Given the description of an element on the screen output the (x, y) to click on. 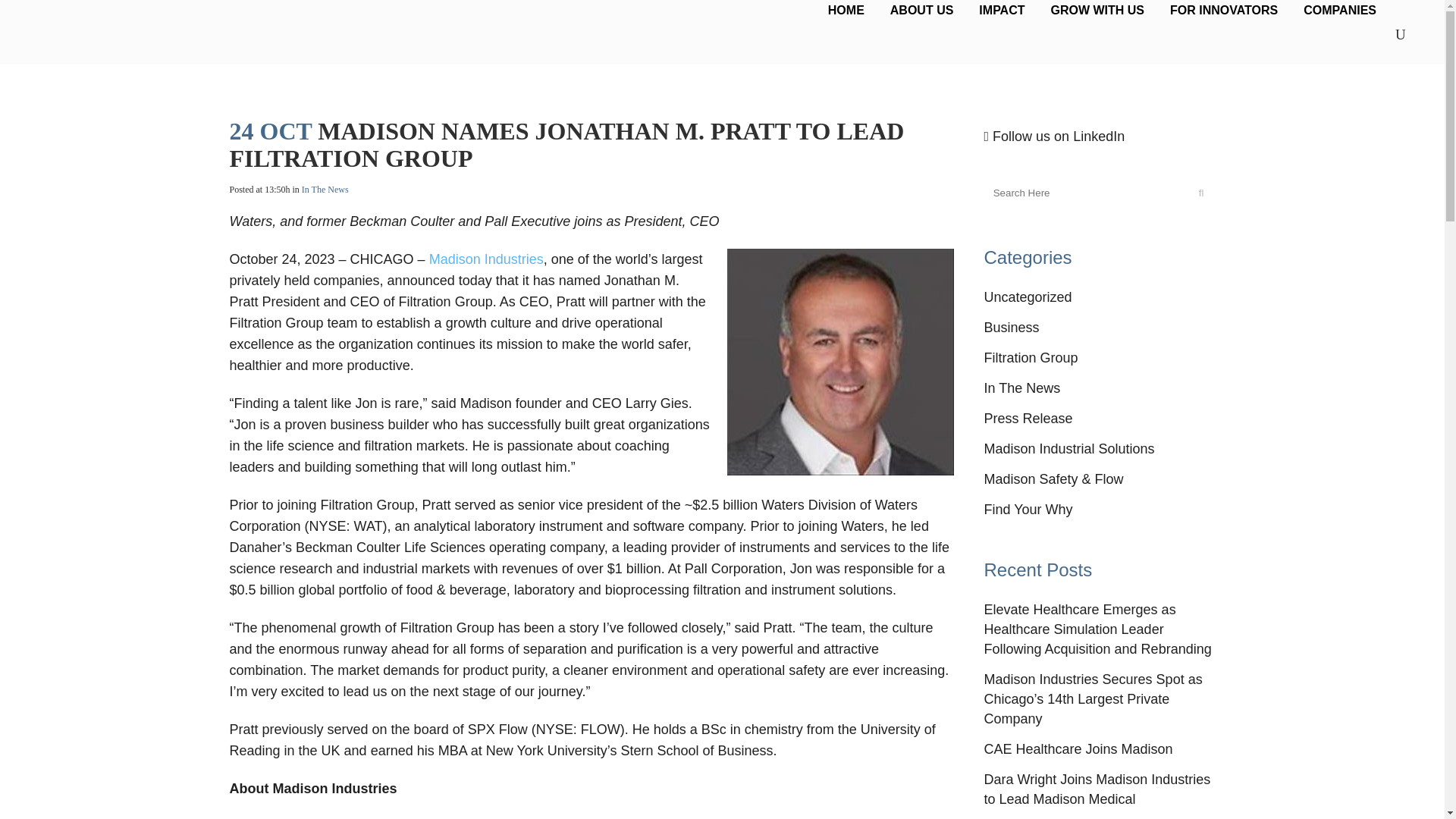
FOR INNOVATORS (1223, 10)
IMPACT (1001, 10)
Madison Industries (486, 258)
Uncategorized (1027, 296)
GROW WITH US (1096, 10)
HOME (846, 10)
In The News (325, 189)
ABOUT US (921, 10)
Follow us on LinkedIn (1054, 136)
COMPANIES (1339, 10)
